Given the description of an element on the screen output the (x, y) to click on. 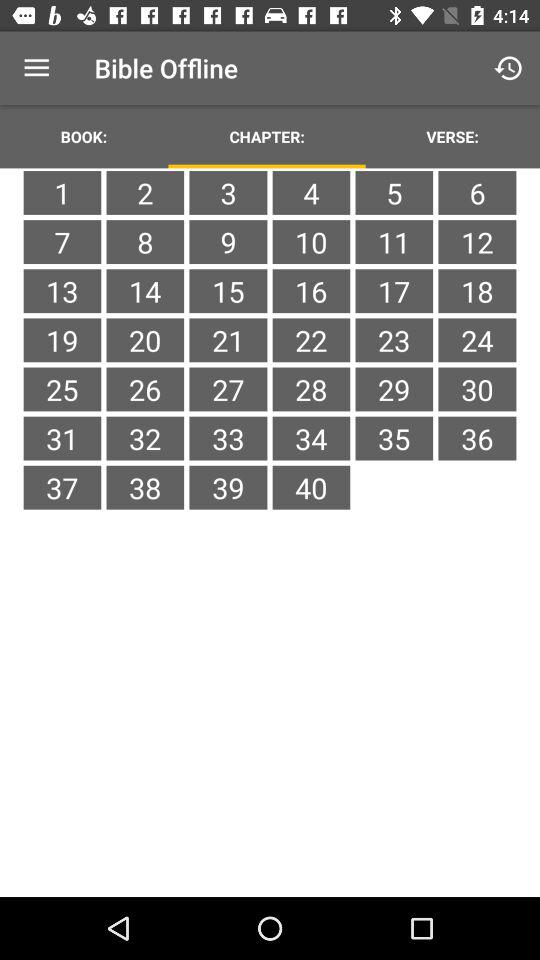
click icon to the right of the 32 icon (228, 487)
